Given the description of an element on the screen output the (x, y) to click on. 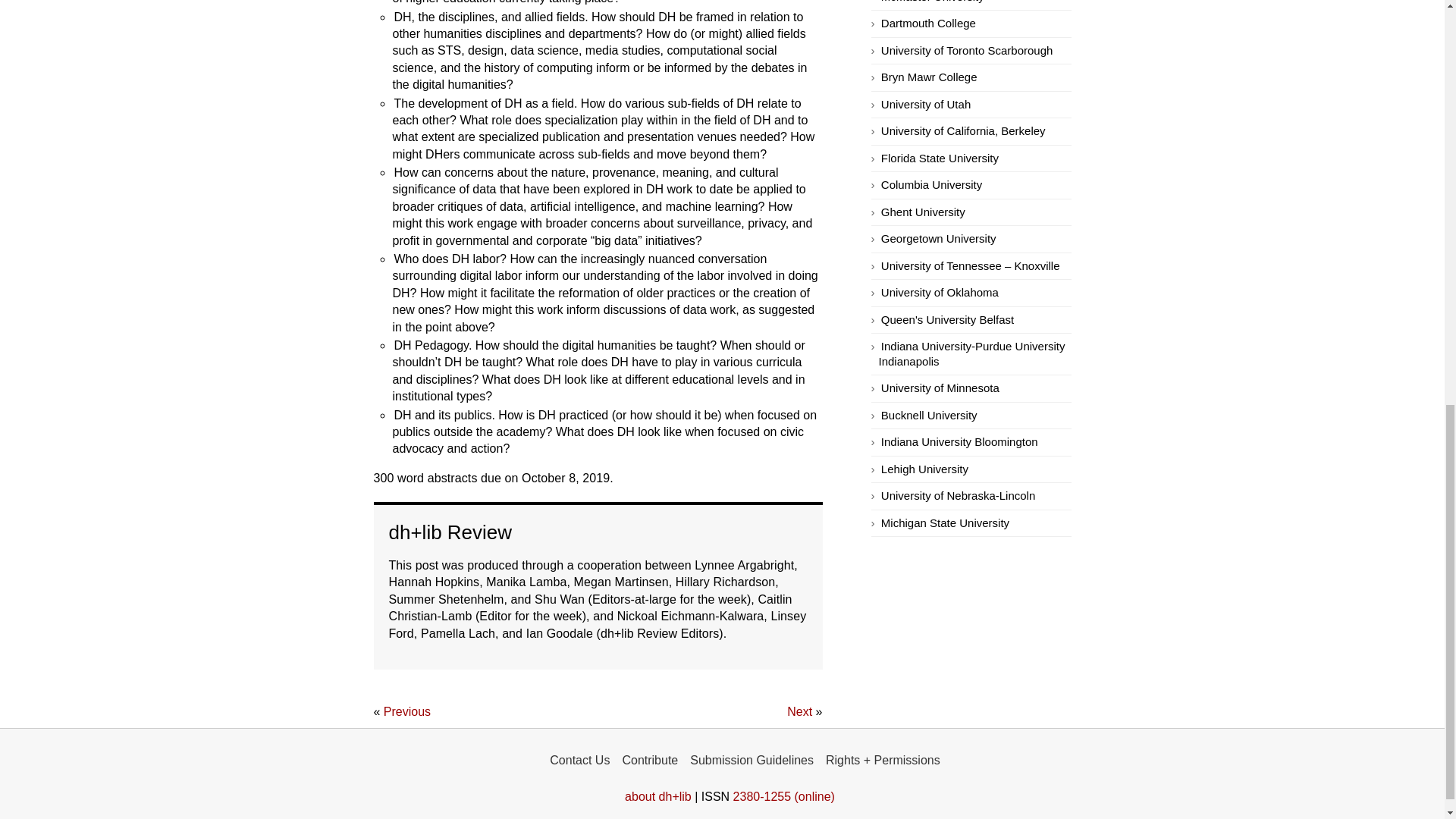
Next (799, 712)
Columbia University (930, 185)
Previous (407, 712)
Florida State University (939, 158)
Digital Scholarship Unit (966, 51)
Dartmouth College (927, 23)
McMaster University (932, 2)
University of Utah (925, 104)
Digital Scholarship Program (928, 77)
Digital Humanities at Dartmouth (927, 23)
Digital Matters Lab (925, 104)
Bryn Mawr College (928, 77)
University of California, Berkeley (962, 131)
University of Toronto Scarborough (966, 51)
